Given the description of an element on the screen output the (x, y) to click on. 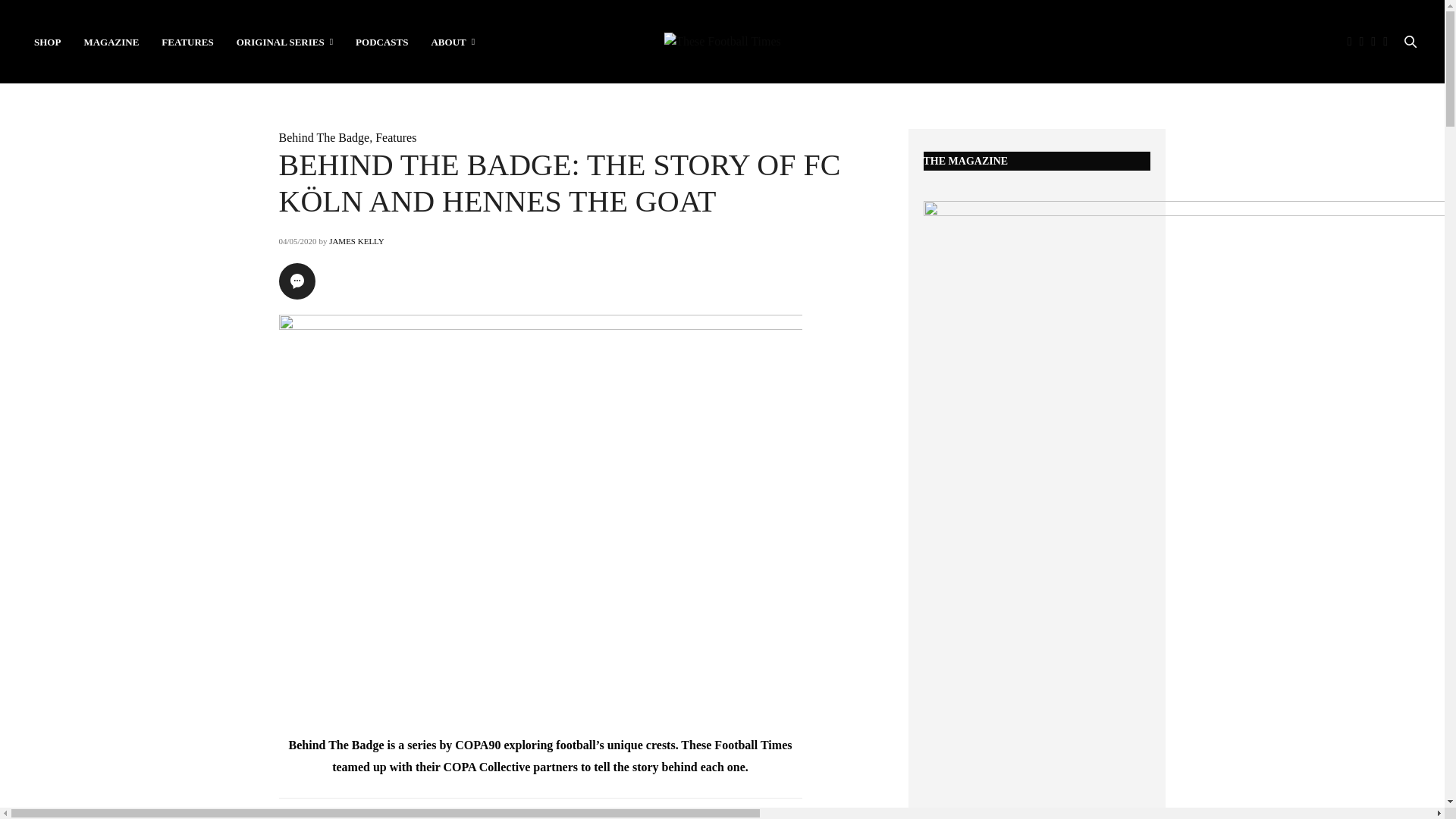
Posts by James Kelly (356, 240)
ORIGINAL SERIES (284, 41)
SHOP (47, 41)
MAGAZINE (110, 41)
These Football Times (721, 41)
FEATURES (186, 41)
